Given the description of an element on the screen output the (x, y) to click on. 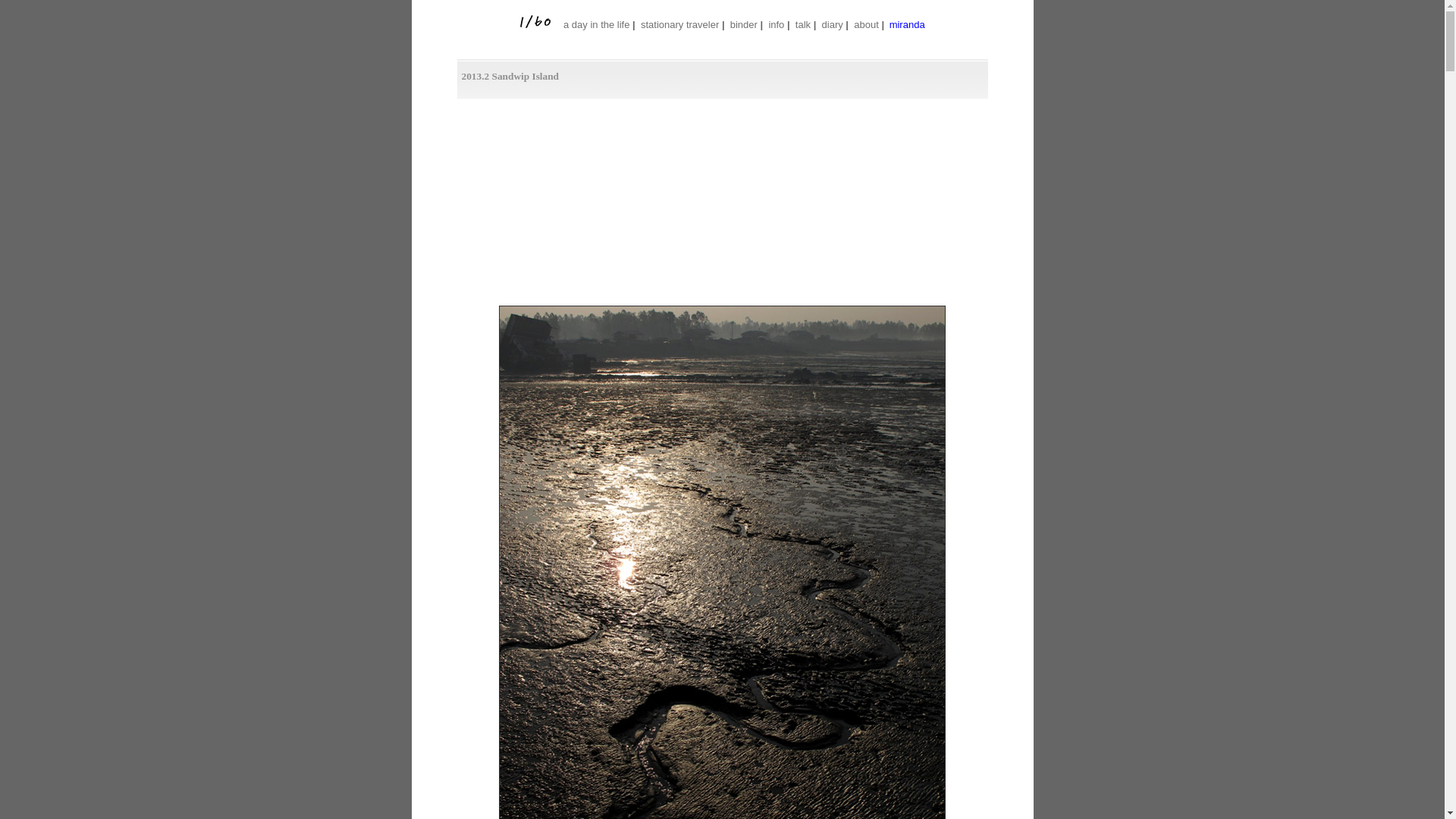
stationary traveler Element type: text (679, 24)
info Element type: text (776, 24)
talk Element type: text (802, 24)
about Element type: text (865, 24)
a day in the life Element type: text (596, 24)
diary Element type: text (832, 24)
binder Element type: text (743, 24)
miranda Element type: text (907, 24)
